Given the description of an element on the screen output the (x, y) to click on. 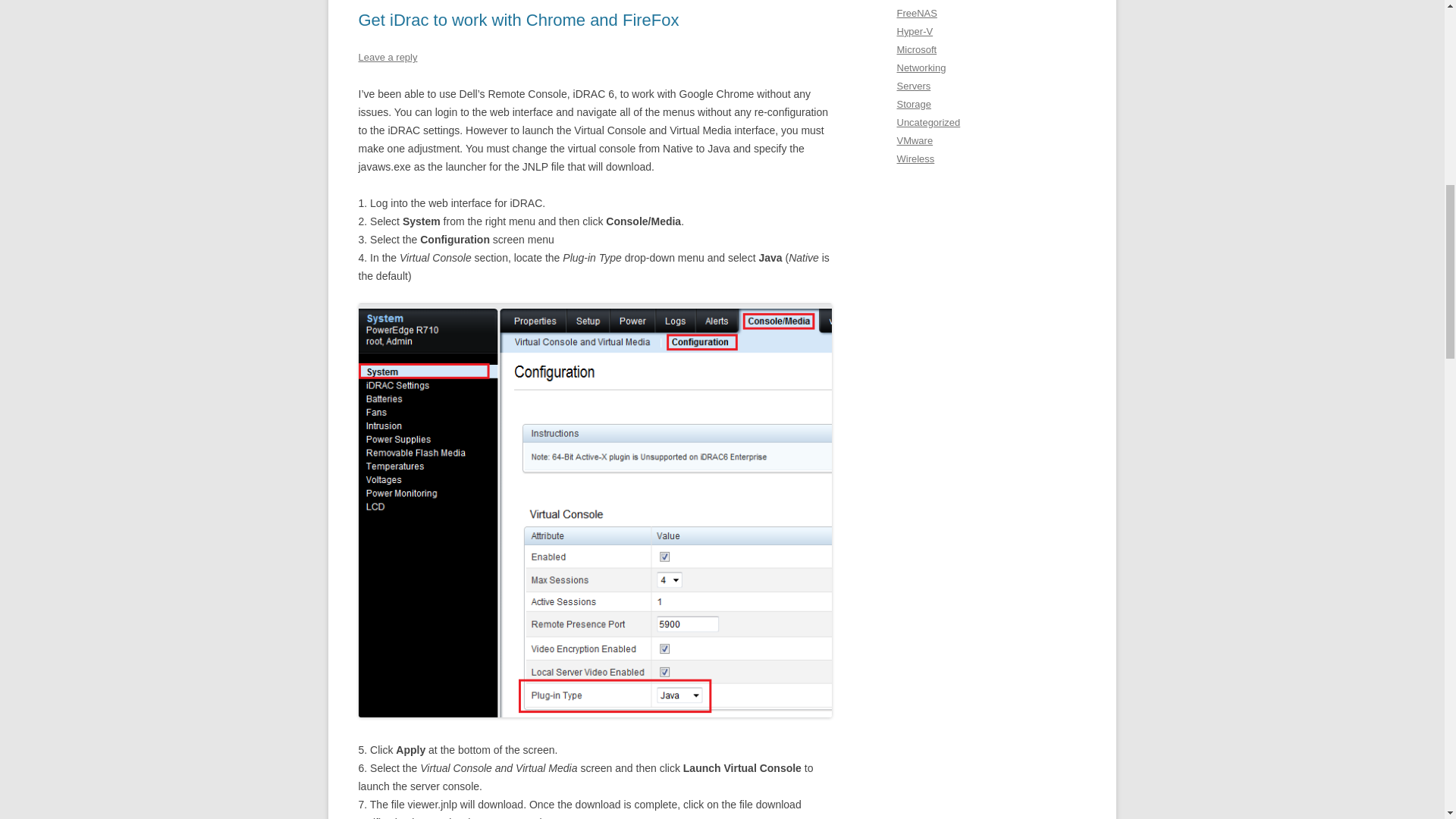
Storage (913, 103)
Microsoft (916, 49)
Networking (920, 67)
Leave a reply (387, 57)
Hyper-V (914, 30)
VMware (914, 140)
Uncategorized (927, 122)
Get iDrac to work with Chrome and FireFox (518, 19)
FreeNAS (916, 12)
Wireless (915, 158)
